Given the description of an element on the screen output the (x, y) to click on. 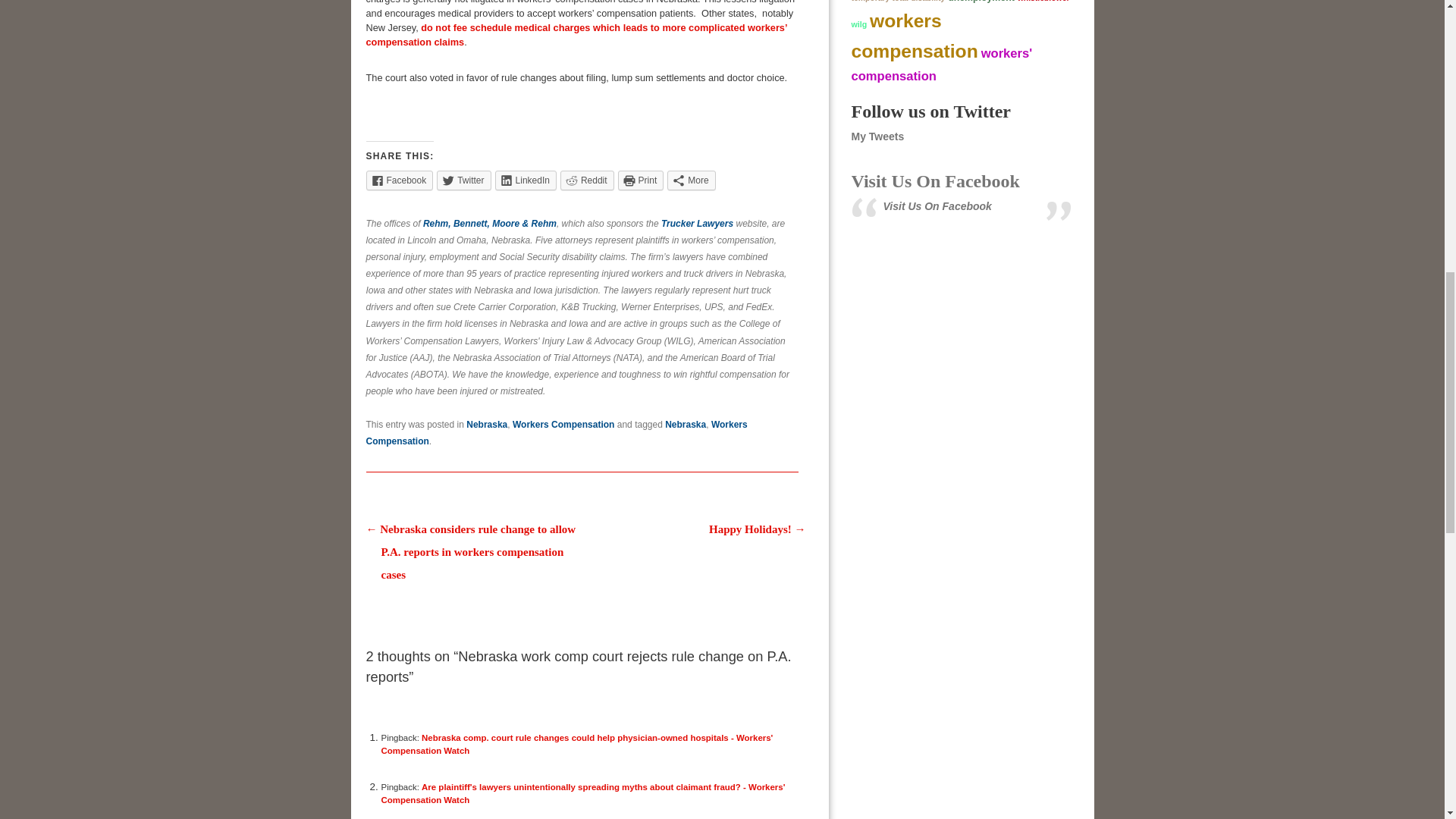
More (690, 180)
LinkedIn (525, 180)
Workers Compensation (555, 432)
Print (640, 180)
Click to share on LinkedIn (525, 180)
Click to print (640, 180)
Click to share on Twitter (463, 180)
Facebook (398, 180)
Trucker Lawyers (697, 223)
Click to share on Reddit (587, 180)
Nebraska (485, 424)
Twitter (463, 180)
Reddit (587, 180)
Nebraska (685, 424)
Workers Compensation (563, 424)
